Given the description of an element on the screen output the (x, y) to click on. 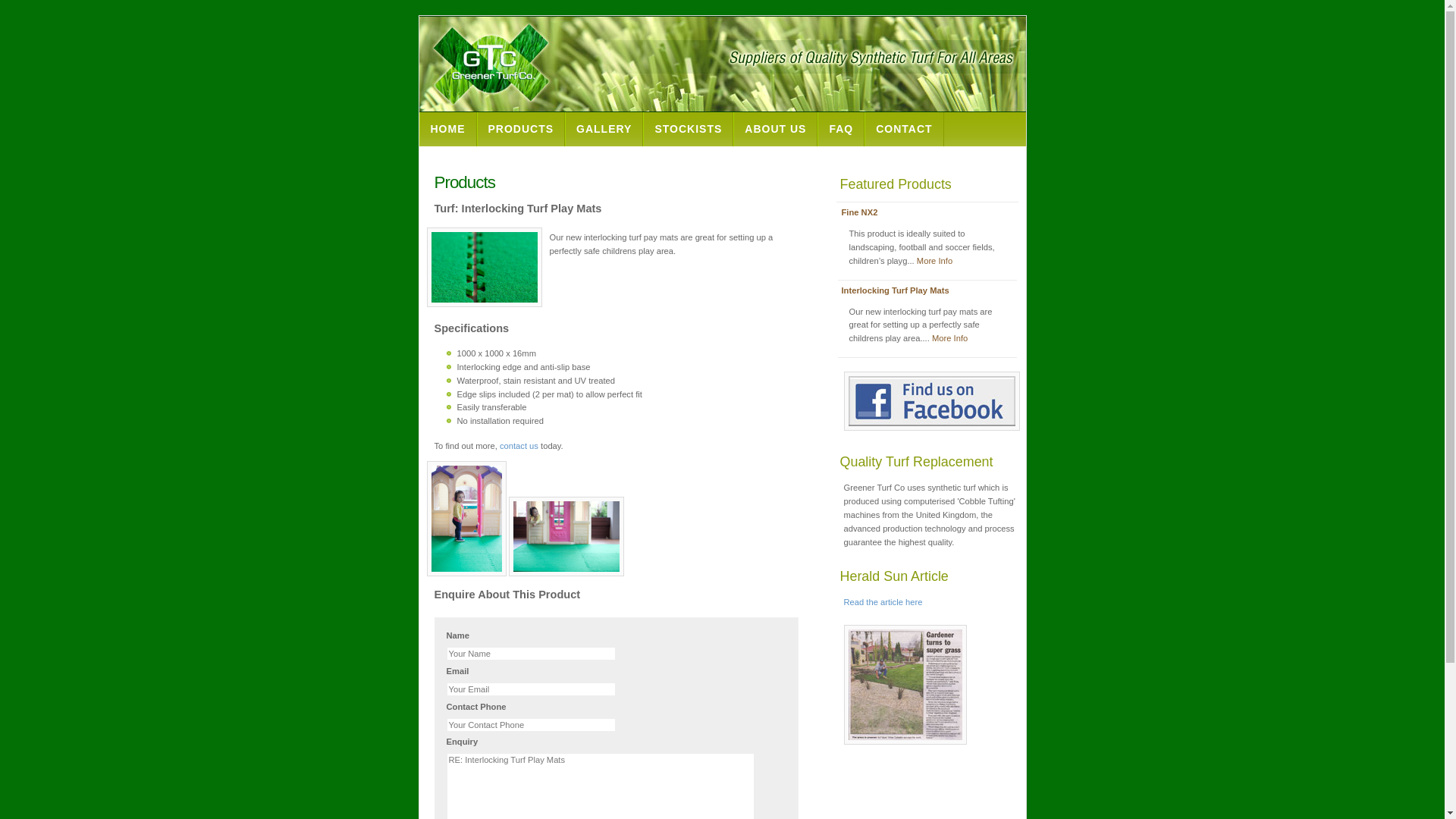
More Info Element type: text (934, 260)
GALLERY Element type: text (603, 129)
ABOUT US Element type: text (775, 129)
STOCKISTS Element type: text (688, 129)
Interlocking Turf Play Mats Element type: text (895, 289)
Fine NX2 Element type: text (859, 211)
FAQ Element type: text (840, 129)
View larger version of T_interlocking_turf_mats_2.jpg Element type: hover (465, 518)
PRODUCTS Element type: text (520, 129)
View larger version of T_interlocking_turf_mats_3.jpg Element type: hover (566, 536)
contact us Element type: text (518, 445)
CONTACT Element type: text (903, 129)
More Info Element type: text (949, 337)
HOME Element type: text (447, 129)
Read the article here Element type: text (882, 601)
